Given the description of an element on the screen output the (x, y) to click on. 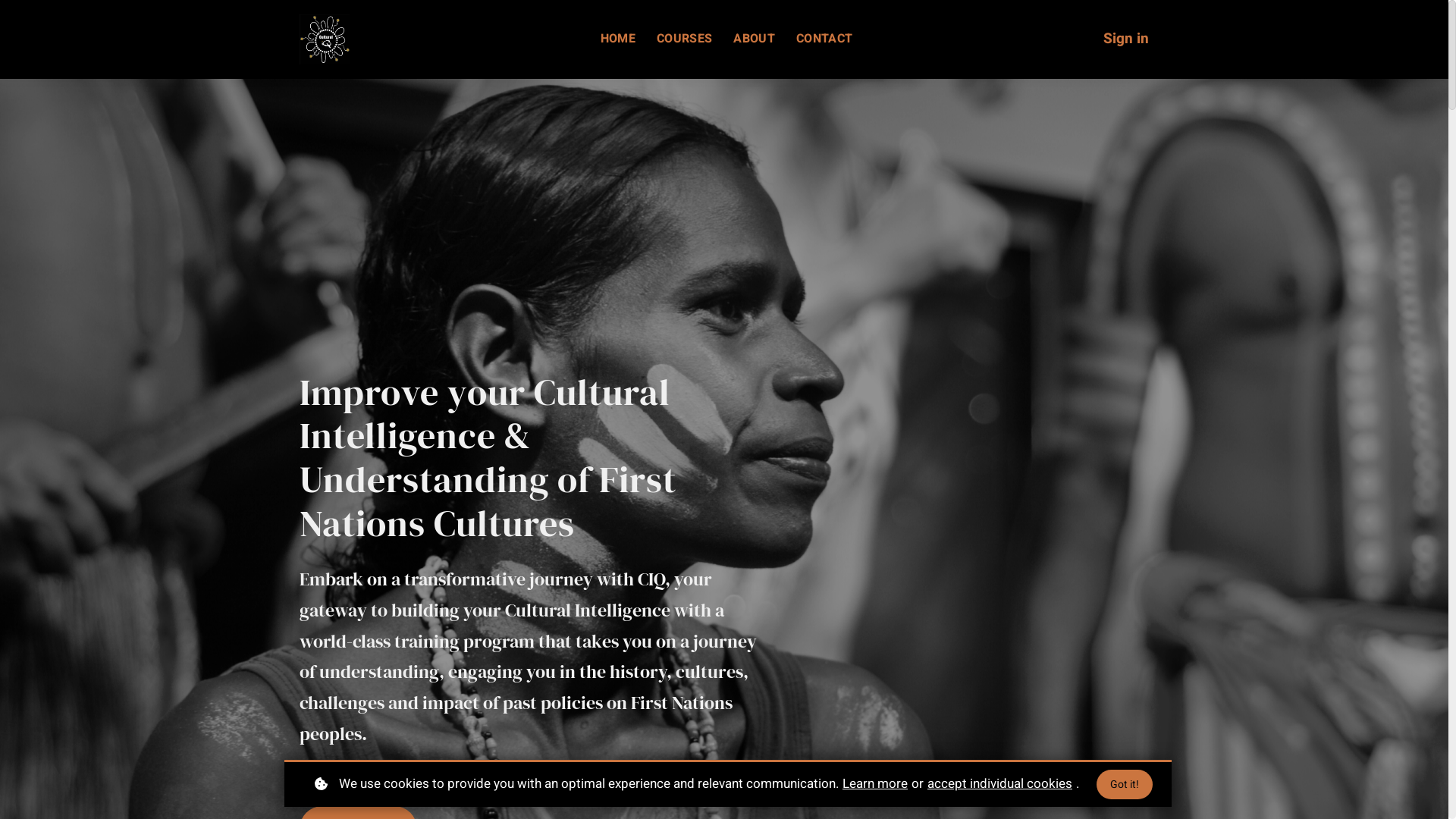
Sign in Element type: text (1125, 39)
Learn more Element type: text (874, 783)
CONTACT Element type: text (824, 38)
COURSES Element type: text (684, 38)
ABOUT Element type: text (754, 38)
accept individual cookies Element type: text (999, 783)
Got it! Element type: text (1124, 784)
HOME Element type: text (617, 38)
